Given the description of an element on the screen output the (x, y) to click on. 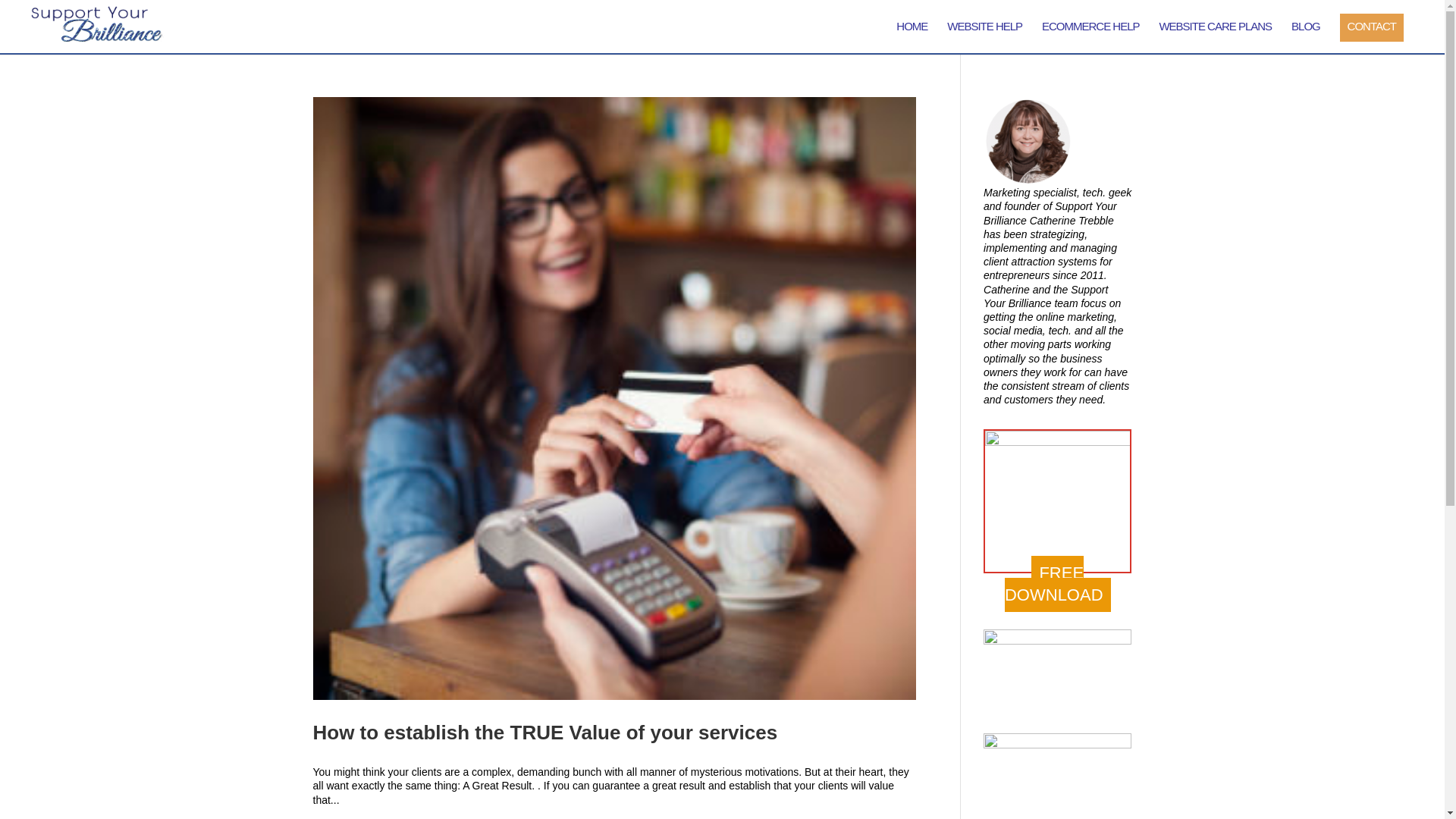
CONTACT (1371, 27)
WEBSITE CARE PLANS (1214, 37)
ECOMMERCE HELP (1091, 37)
How to establish the TRUE Value of your services (545, 732)
FREE DOWNLOAD (1057, 583)
WEBSITE HELP (984, 37)
BLOG (1305, 37)
HOME (911, 37)
